Given the description of an element on the screen output the (x, y) to click on. 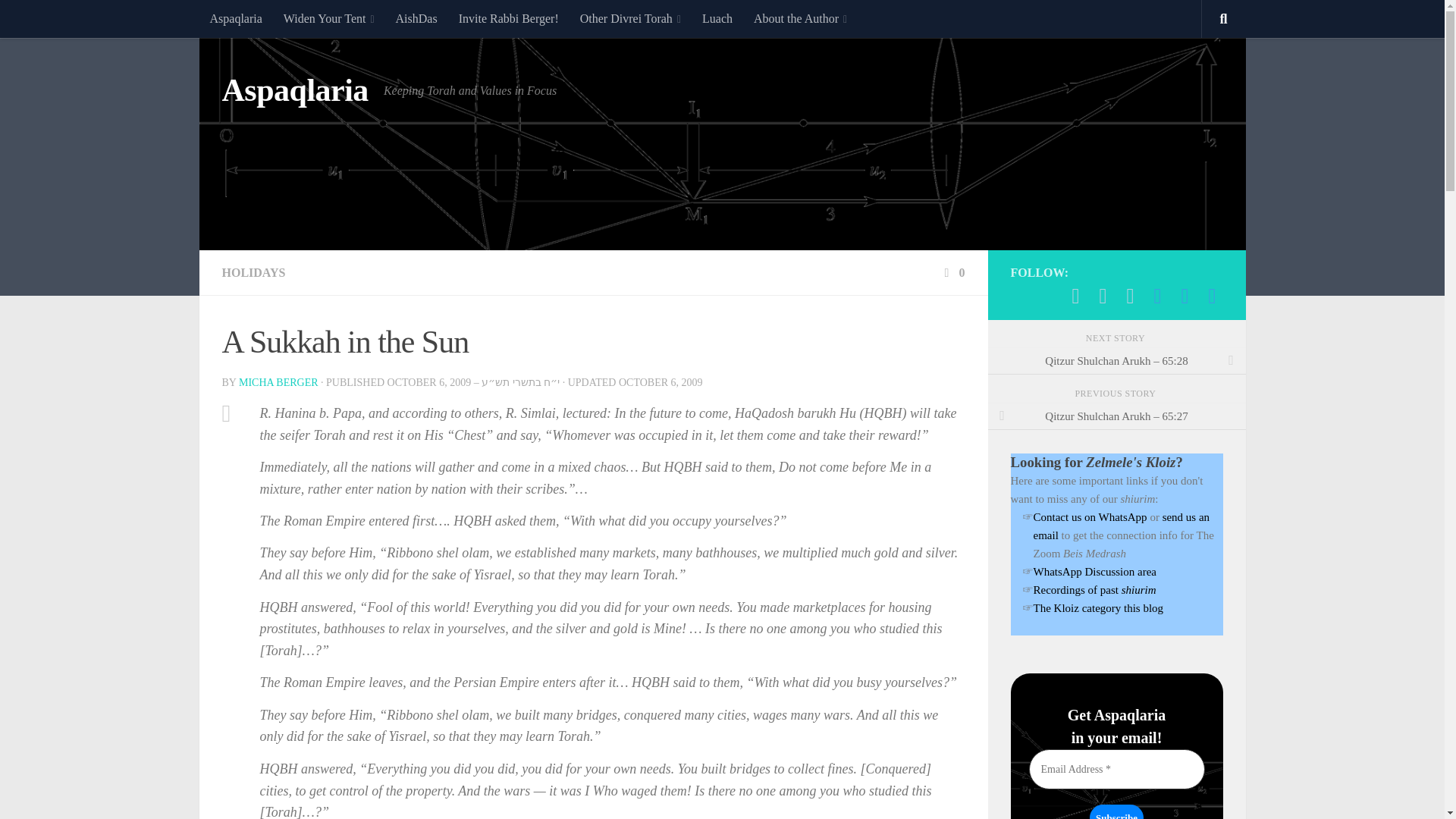
WhatsApp me (1075, 296)
Other Divrei Torah (630, 18)
Widen Your Tent (329, 18)
AishDas (416, 18)
Email! (1102, 296)
Aspaqlaria (235, 18)
Invite Rabbi Berger! (508, 18)
Posts by Micha Berger (278, 382)
Follow me on Facebook! (1129, 296)
Skip to content (59, 20)
Luach (716, 18)
About the Author (799, 18)
Subscribe (1115, 811)
